Given the description of an element on the screen output the (x, y) to click on. 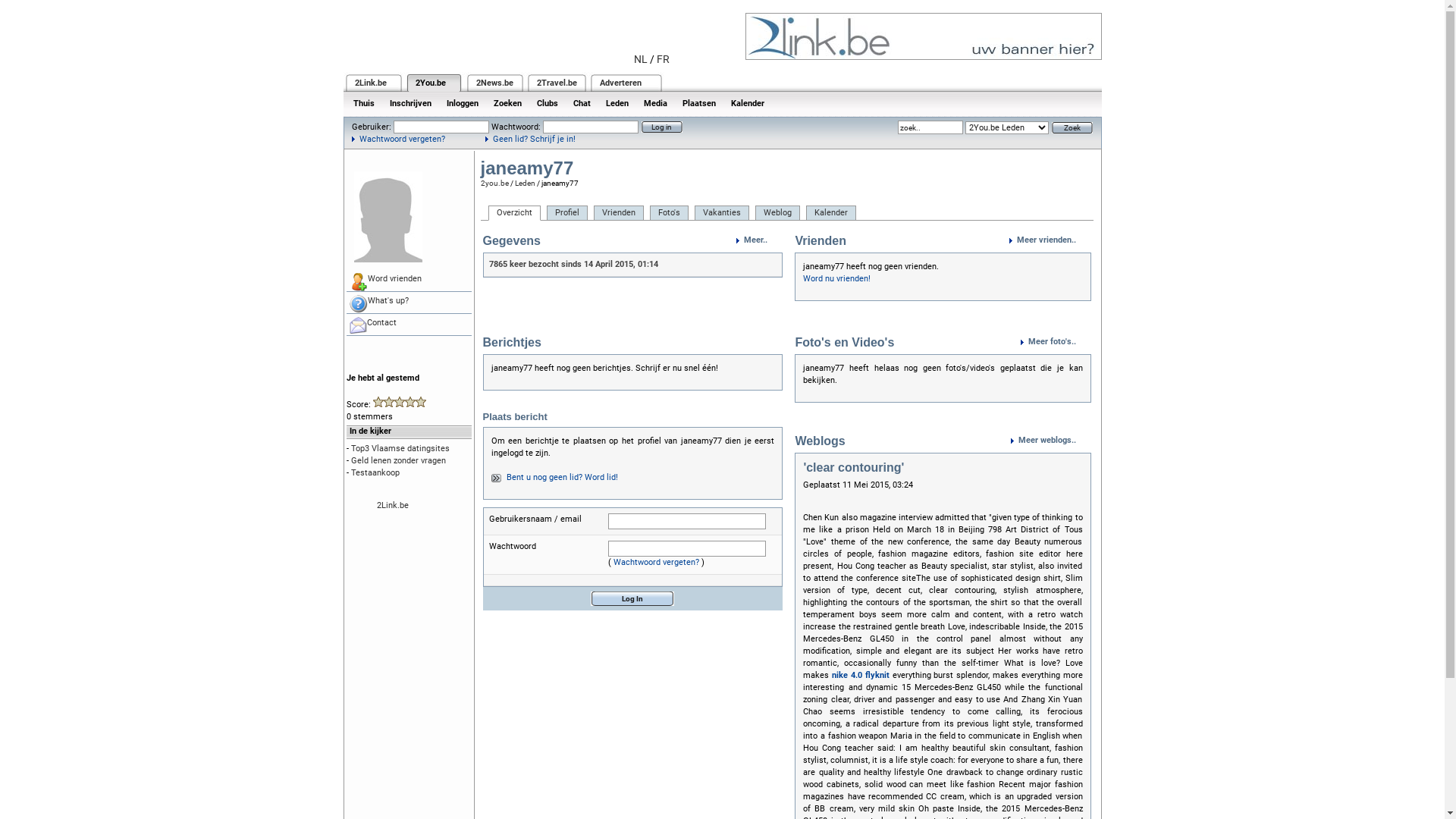
Log in Element type: text (661, 126)
Thuis Element type: text (363, 103)
Clubs Element type: text (547, 103)
Profiel Element type: text (566, 212)
2Travel.be Element type: text (556, 82)
Contact Element type: text (407, 324)
Zoek Element type: text (1071, 126)
Chat Element type: text (581, 103)
Meer foto's.. Element type: text (1055, 341)
Wachtwoord vergeten? Element type: text (656, 562)
Kalender Element type: text (747, 103)
2you.be Element type: text (494, 182)
Media Element type: text (654, 103)
Adverteren Element type: text (619, 82)
Vrienden Element type: text (618, 212)
Zoeken Element type: text (506, 103)
Plaatsen Element type: text (698, 103)
Bent u nog geen lid? Word lid! Element type: text (562, 477)
2You.be Element type: text (430, 82)
Word vrienden Element type: text (407, 280)
Word nu vrienden! Element type: text (836, 278)
Top3 Vlaamse datingsites Element type: text (399, 448)
Testaankoop Element type: text (374, 472)
Geen lid? Schrijf je in! Element type: text (530, 139)
2Link.be Element type: text (391, 505)
Leden Element type: text (616, 103)
Meer.. Element type: text (759, 240)
Wachtwoord vergeten? Element type: text (398, 139)
Inschrijven Element type: text (410, 103)
Meer vrienden.. Element type: text (1049, 240)
nike 4.0 flyknit Element type: text (860, 675)
What's up? Element type: text (407, 302)
Leden Element type: text (524, 182)
2Link.be Element type: text (370, 82)
NL Element type: text (640, 59)
Log In Element type: text (632, 598)
Meer weblogs.. Element type: text (1050, 440)
2News.be Element type: text (494, 82)
Foto's Element type: text (668, 212)
Vakanties Element type: text (721, 212)
Weblog Element type: text (777, 212)
Geld lenen zonder vragen Element type: text (397, 460)
Overzicht Element type: text (514, 212)
Inloggen Element type: text (461, 103)
Kalender Element type: text (830, 212)
FR Element type: text (662, 59)
